Given the description of an element on the screen output the (x, y) to click on. 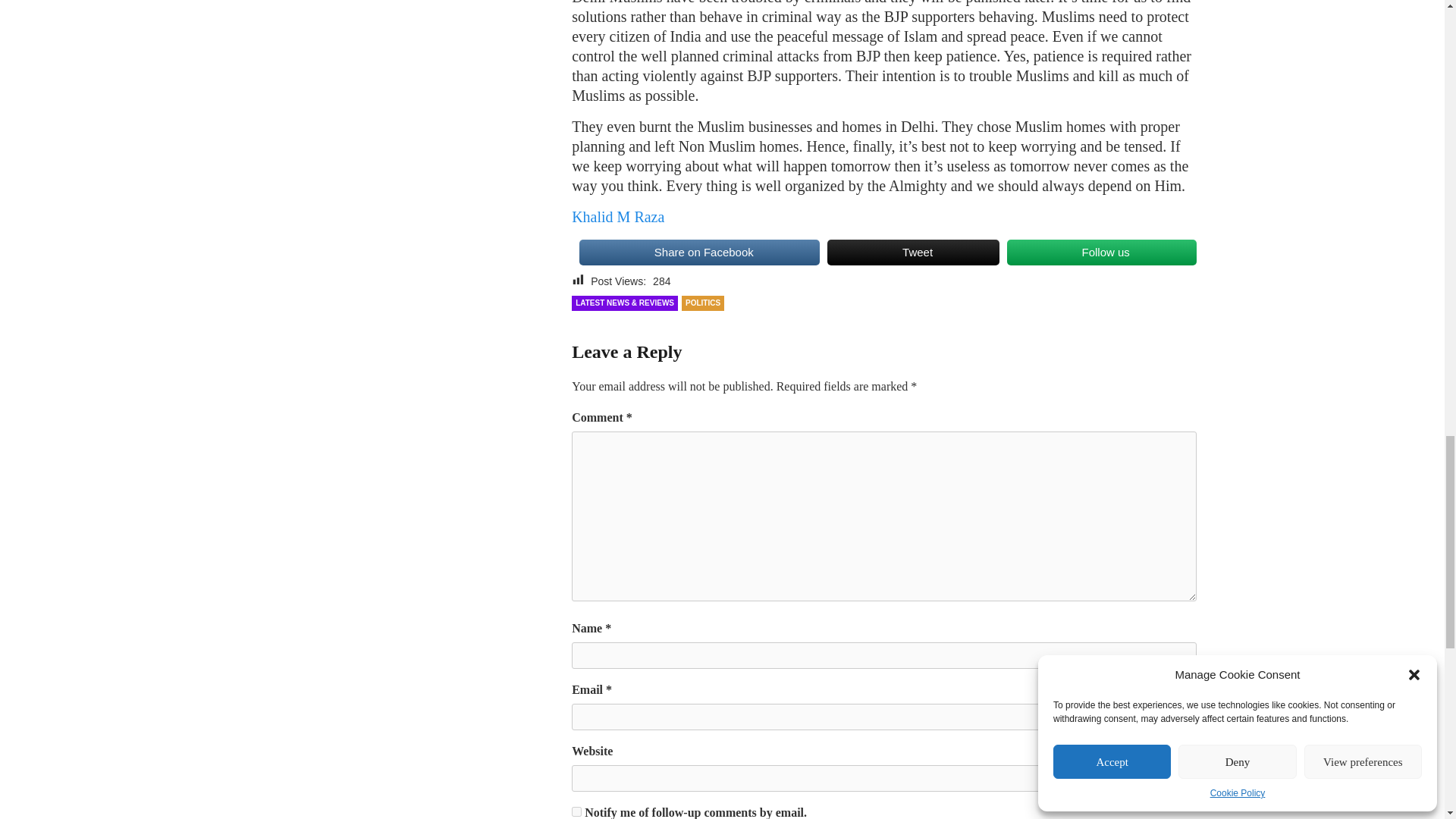
subscribe (576, 811)
